Given the description of an element on the screen output the (x, y) to click on. 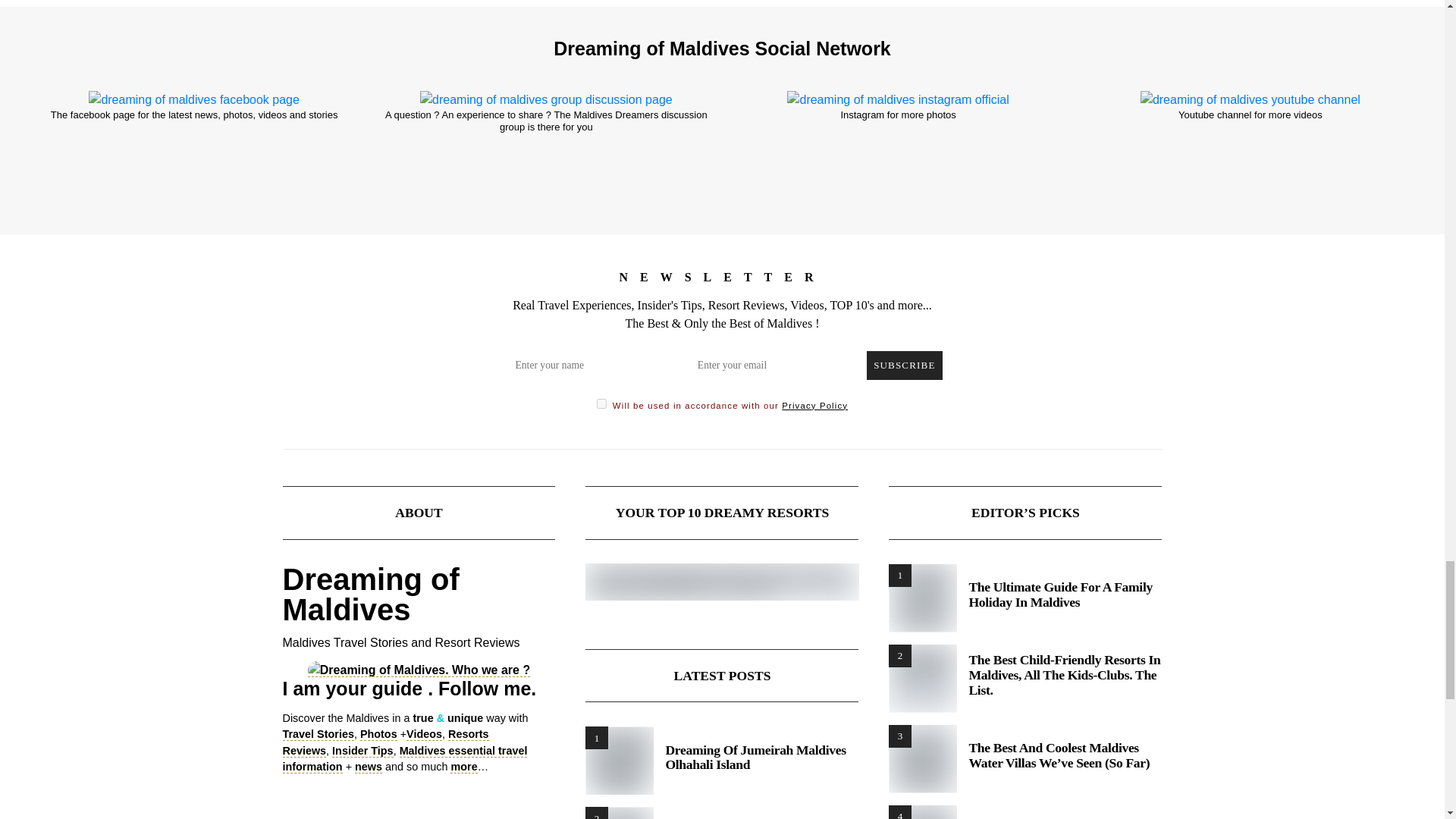
on (601, 403)
